Given the description of an element on the screen output the (x, y) to click on. 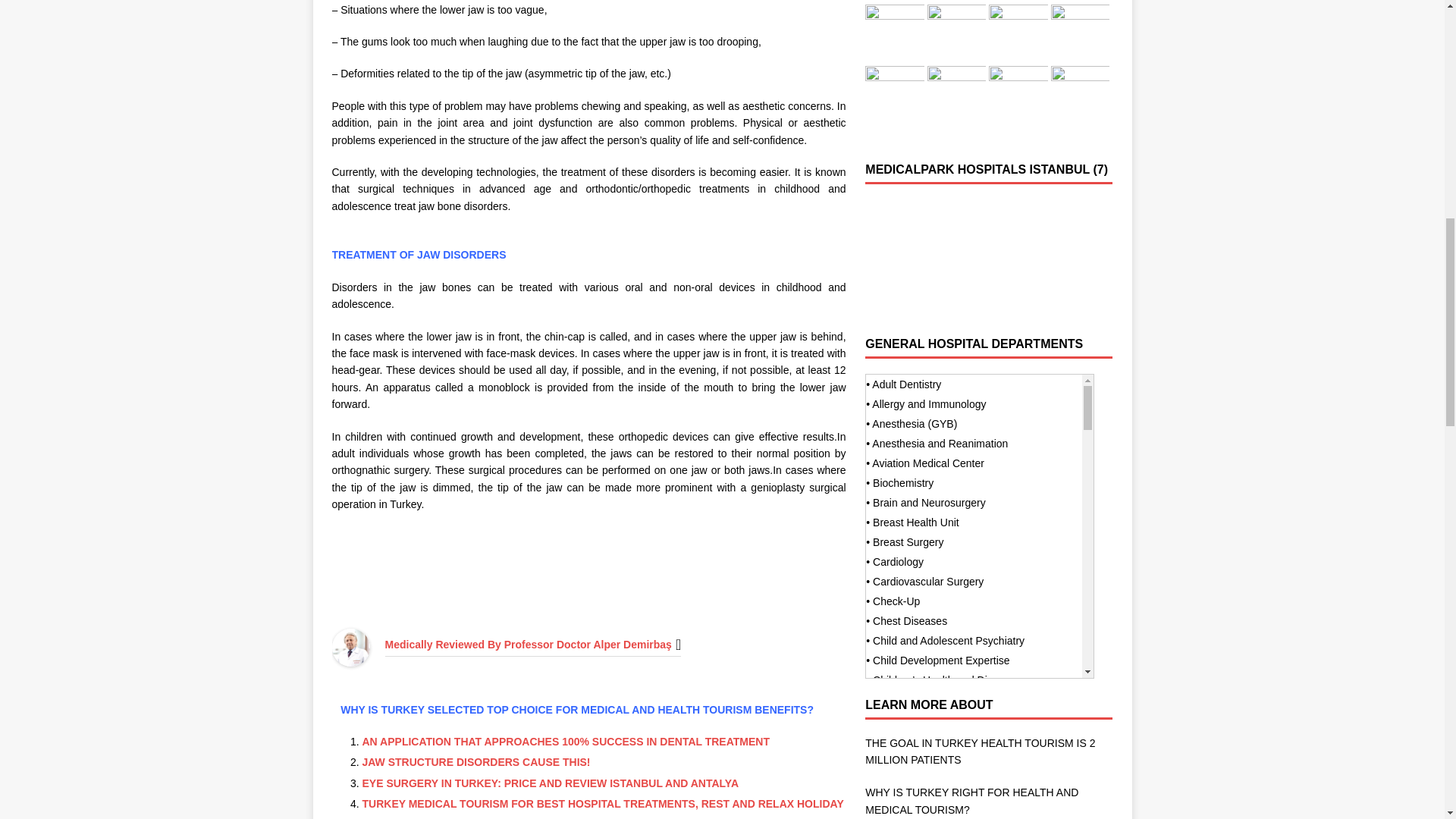
EYE SURGERY IN TURKEY: PRICE AND REVIEW ISTANBUL AND ANTALYA (550, 783)
JAW STRUCTURE DISORDERS CAUSE THIS! (476, 761)
